Given the description of an element on the screen output the (x, y) to click on. 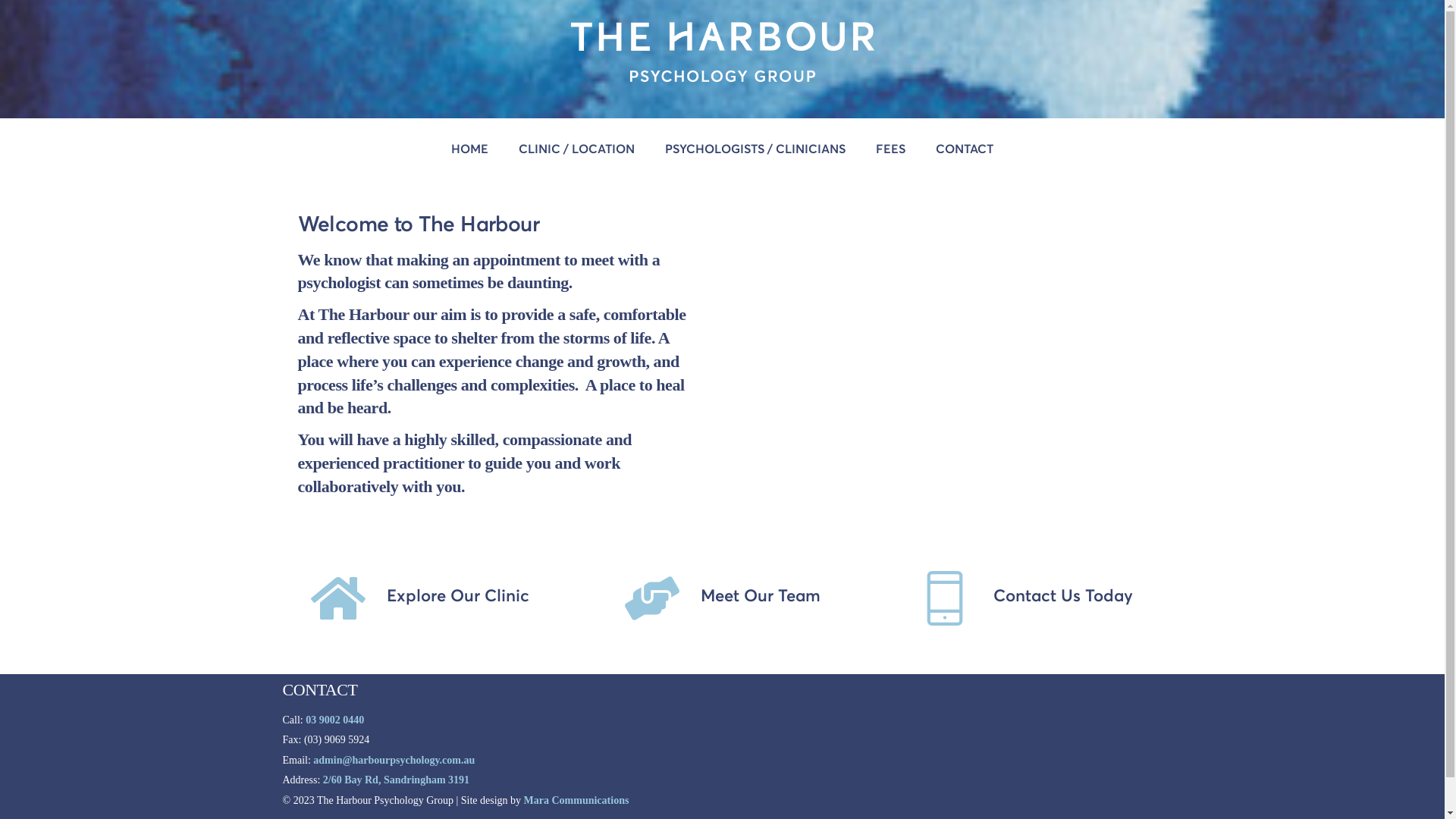
FEES Element type: text (890, 148)
Meet Our Team Element type: text (722, 596)
03 9002 0440 Element type: text (334, 719)
The Harbour Psychology Group Element type: hover (721, 74)
PSYCHOLOGISTS / CLINICIANS Element type: text (754, 148)
2/60 Bay Rd, Sandringham 3191 Element type: text (396, 779)
Mara Communications Element type: text (576, 800)
CONTACT Element type: text (964, 148)
admin@harbourpsychology.com.au Element type: text (393, 759)
Explore Our Clinic Element type: text (419, 596)
HOME Element type: text (469, 148)
CLINIC / LOCATION Element type: text (576, 148)
Contact Us Today Element type: text (1024, 596)
TheHarbour_Logo_Reverse-2 Element type: hover (721, 51)
